Given the description of an element on the screen output the (x, y) to click on. 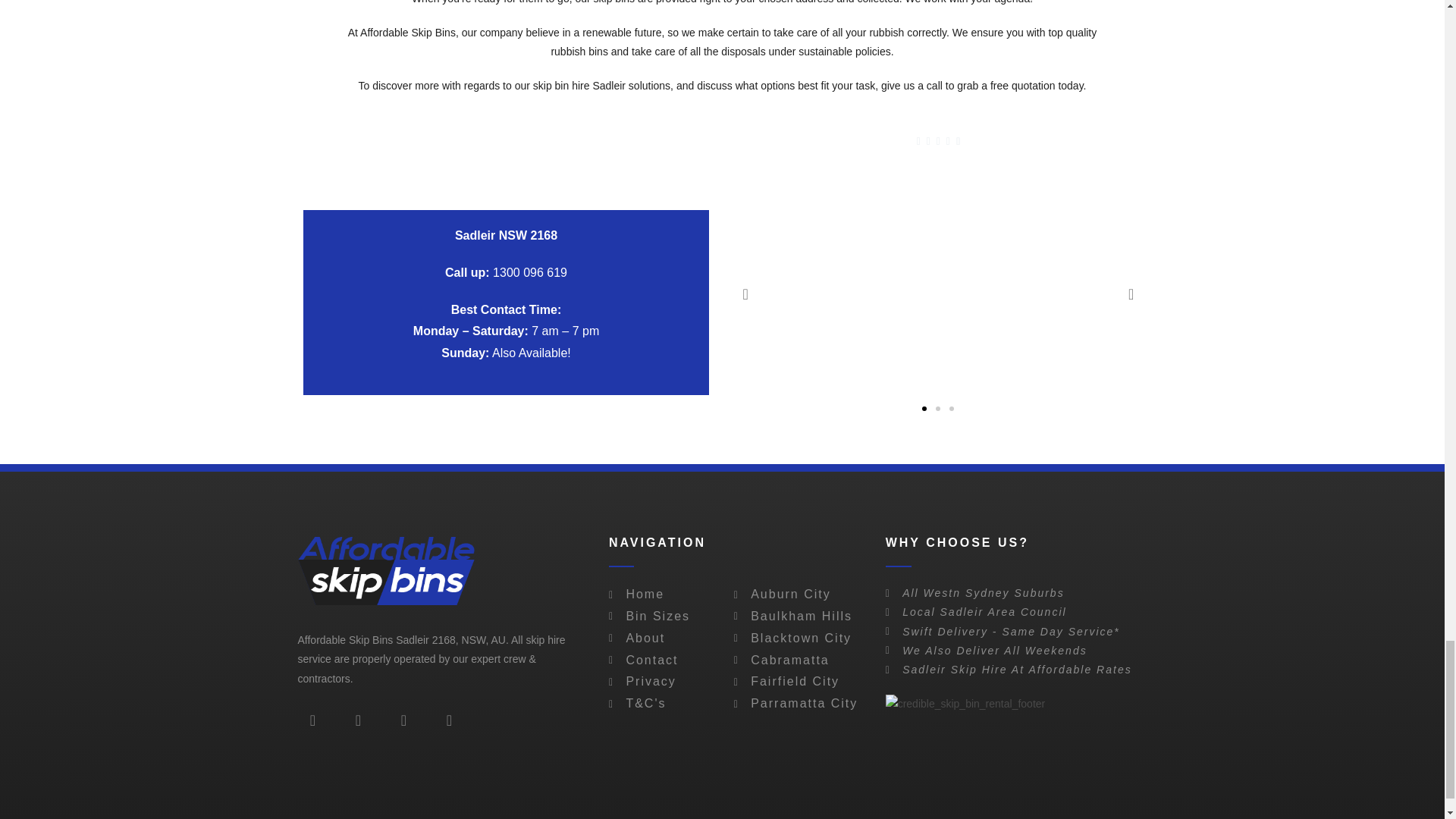
About (670, 639)
Contact (670, 660)
Bin Sizes (670, 617)
Privacy (670, 681)
Home (670, 594)
